Given the description of an element on the screen output the (x, y) to click on. 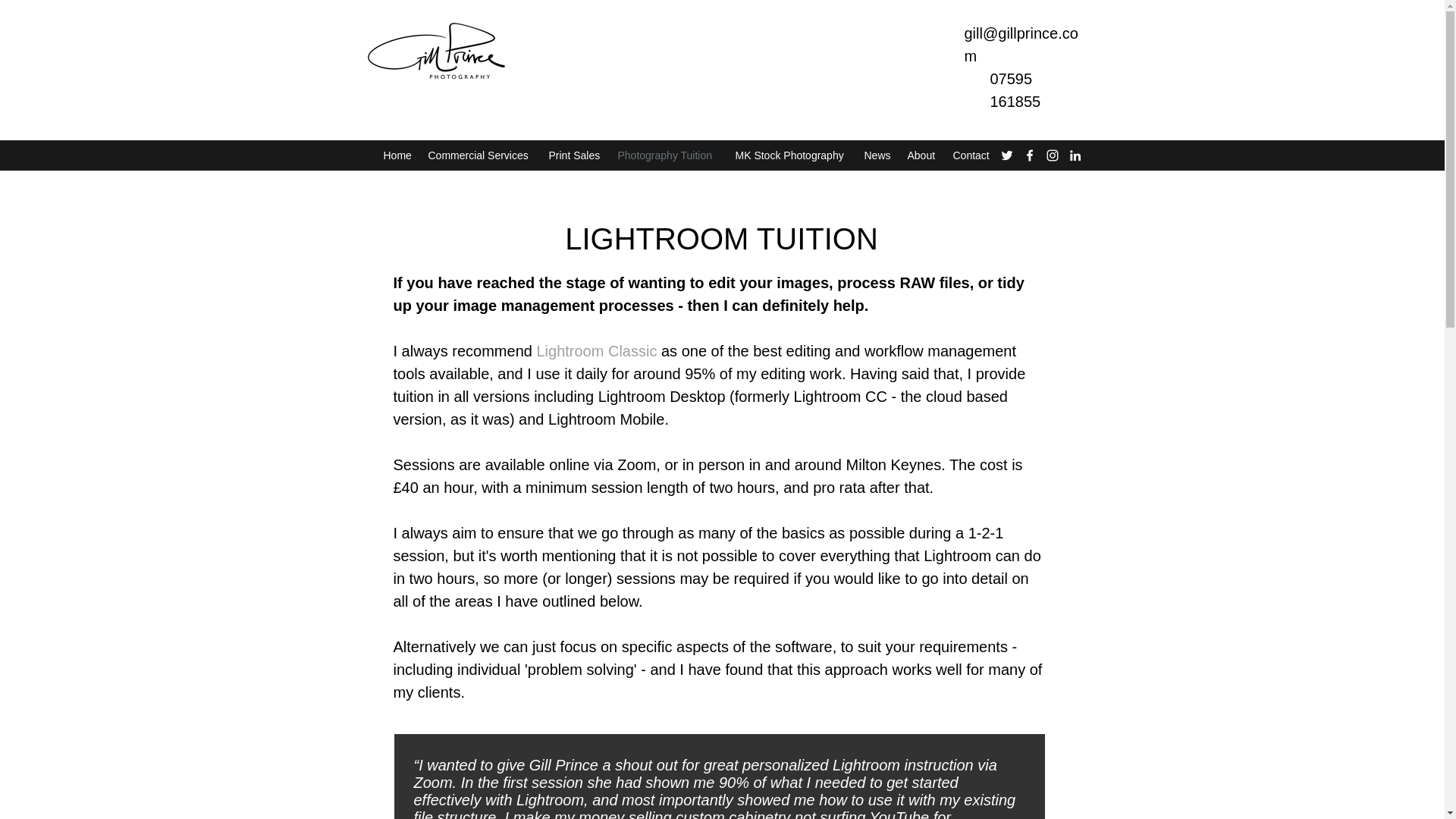
Contact (971, 155)
MK Stock Photography (792, 155)
Print Sales (575, 155)
Home (397, 155)
News (878, 155)
Commercial Services (480, 155)
Photography Tuition (668, 155)
About (921, 155)
